Given the description of an element on the screen output the (x, y) to click on. 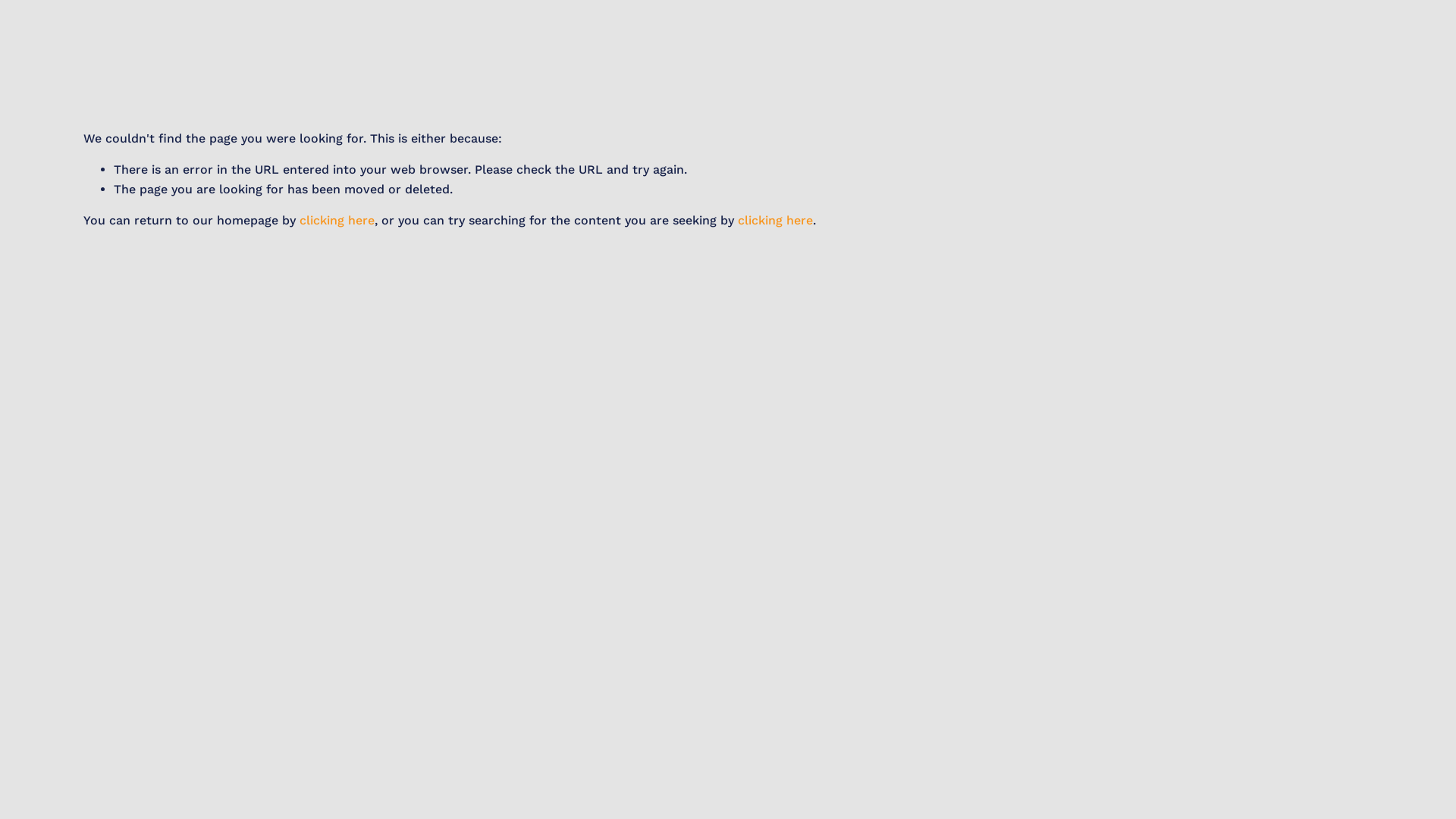
clicking here Element type: text (336, 220)
clicking here Element type: text (774, 220)
